Given the description of an element on the screen output the (x, y) to click on. 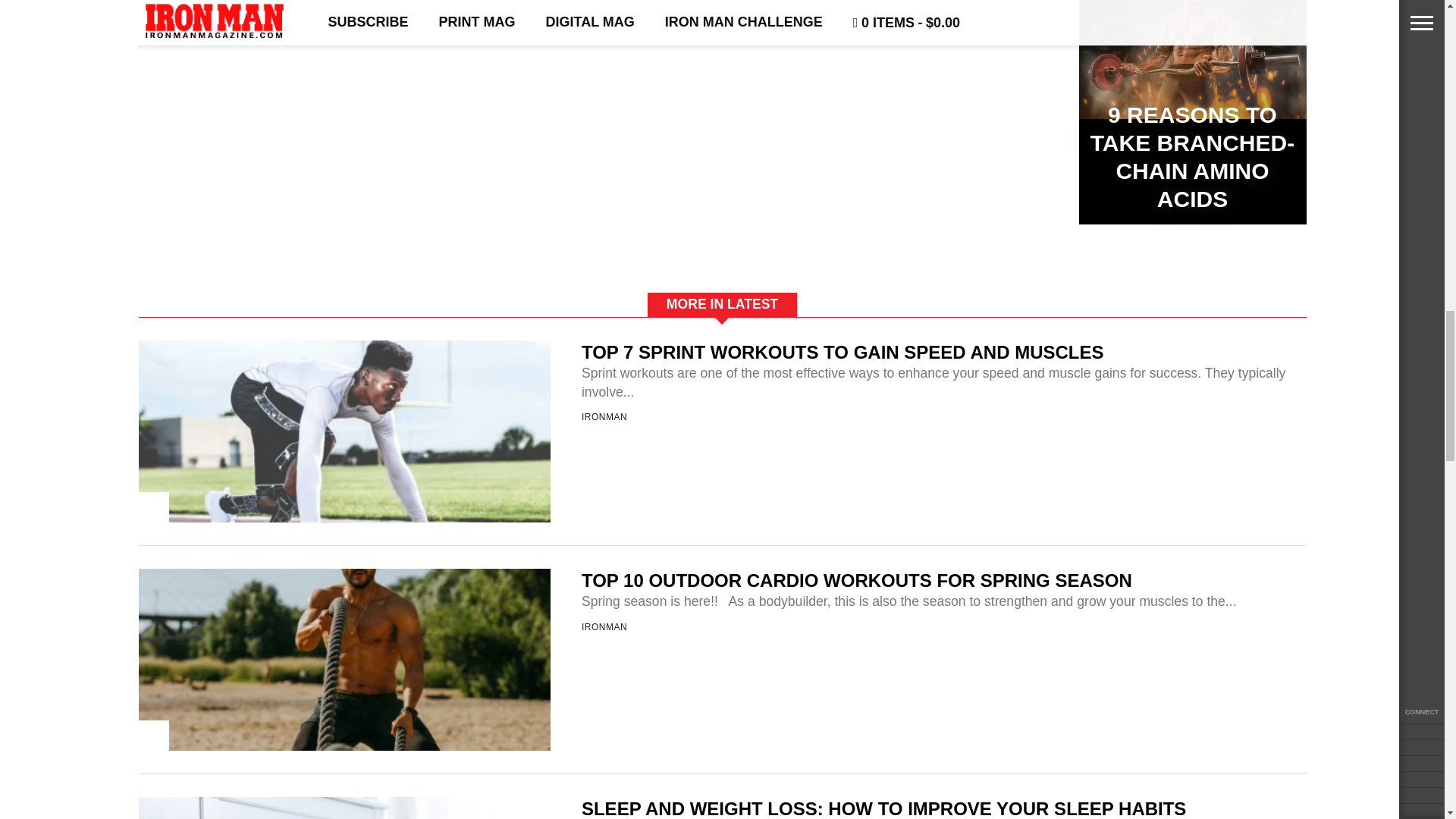
Top 10 Outdoor Cardio Workouts For Spring Season (344, 811)
Top 7 Sprint Workouts to Gain Speed and Muscles (344, 583)
